Given the description of an element on the screen output the (x, y) to click on. 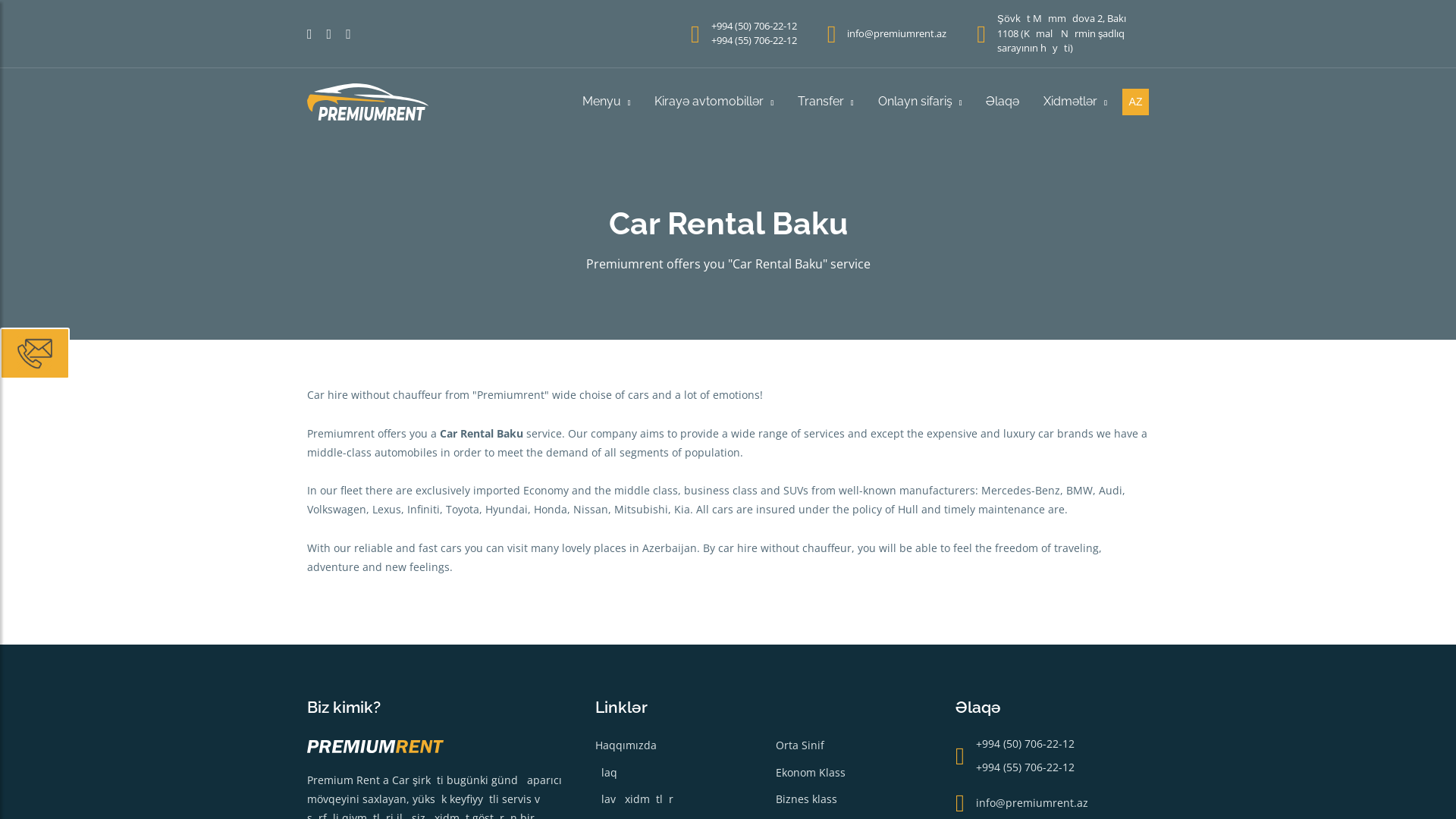
Biznes klass Element type: text (805, 798)
Transfer Element type: text (825, 101)
Orta Sinif Element type: text (799, 744)
Menyu Element type: text (606, 101)
AZ Element type: text (1135, 101)
Ekonom Klass Element type: text (809, 772)
